Given the description of an element on the screen output the (x, y) to click on. 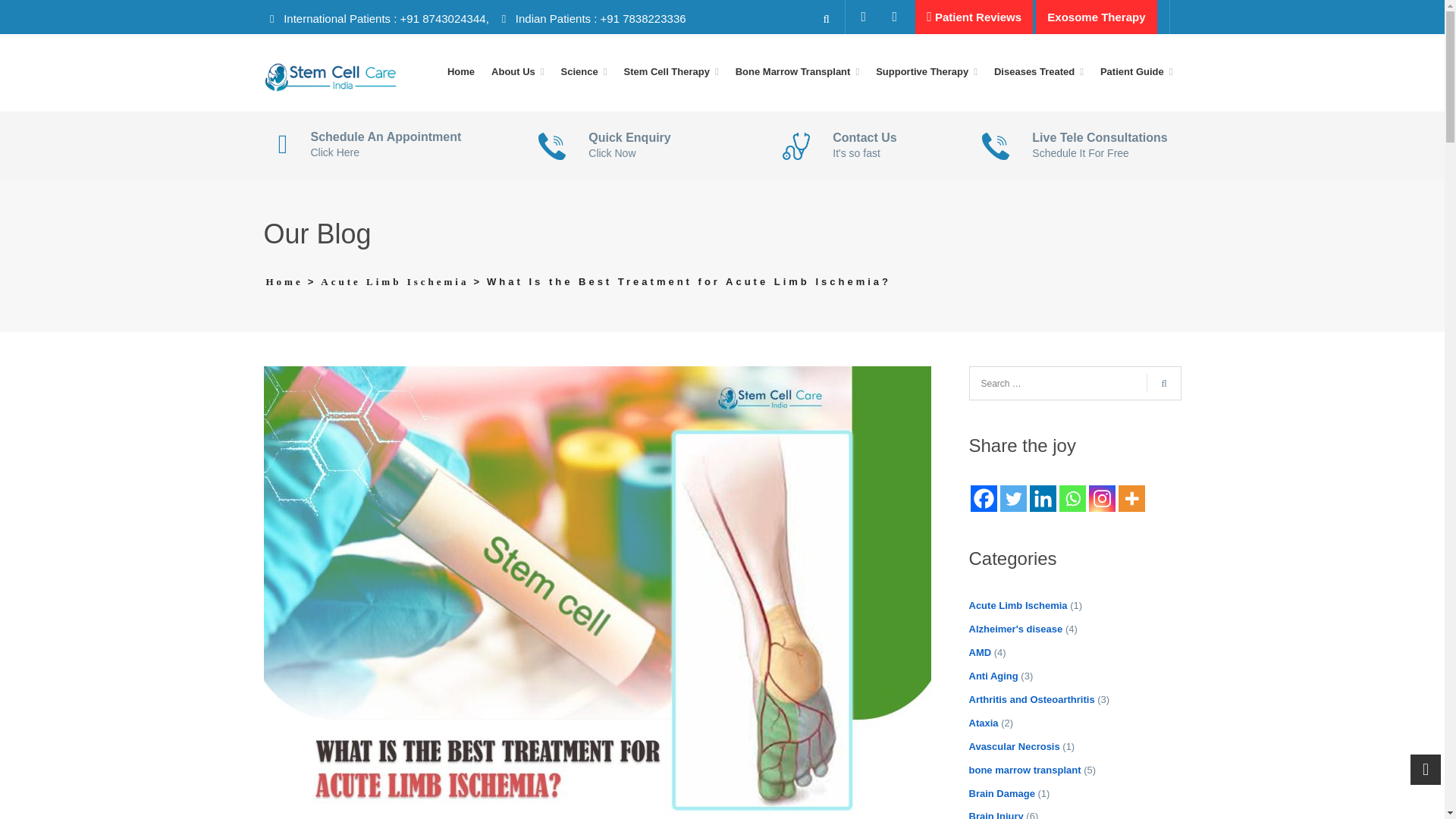
Exosome Therapy (1095, 17)
About Us (518, 72)
Patient Reviews (973, 17)
